Given the description of an element on the screen output the (x, y) to click on. 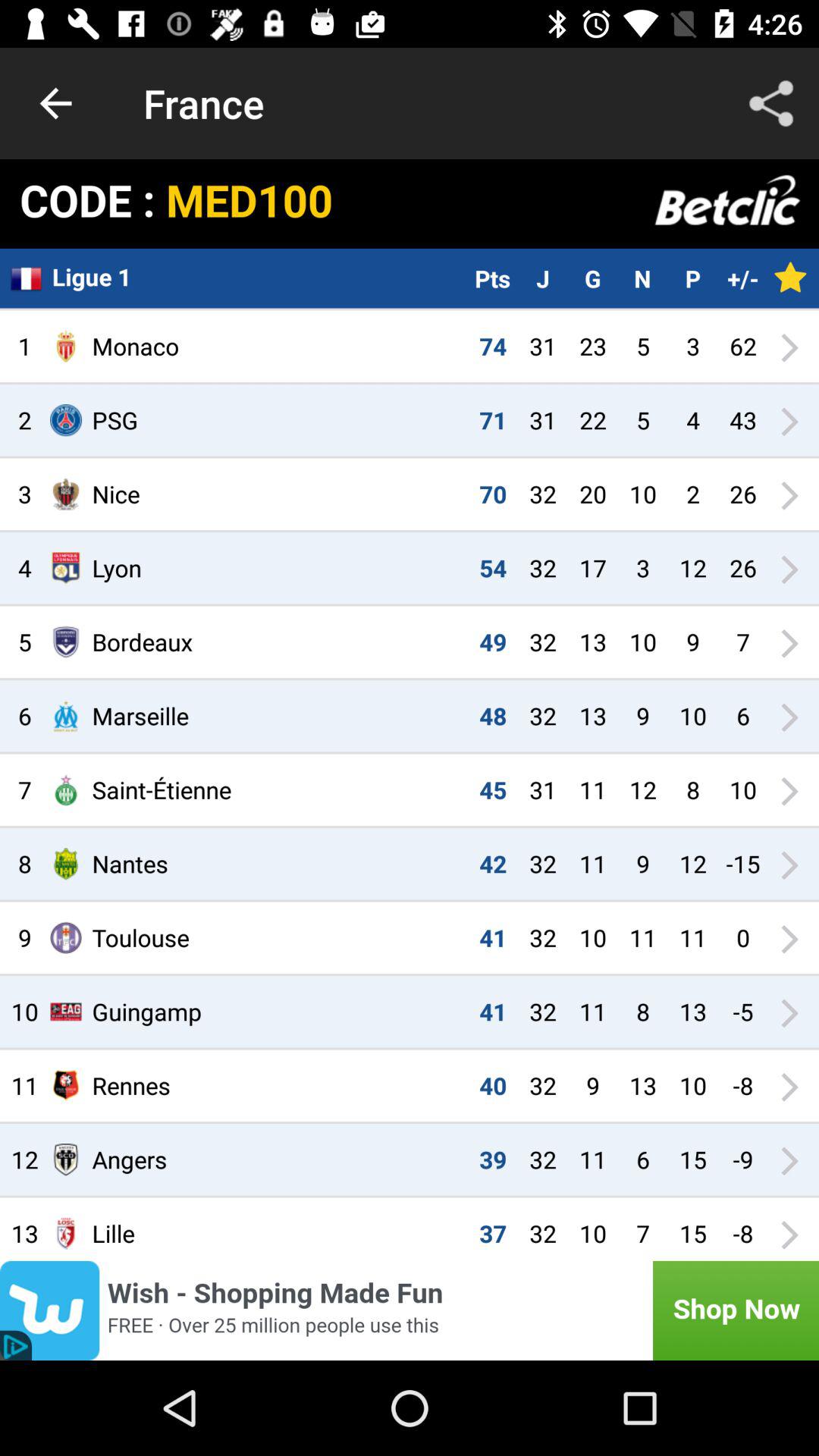
share (771, 103)
